Given the description of an element on the screen output the (x, y) to click on. 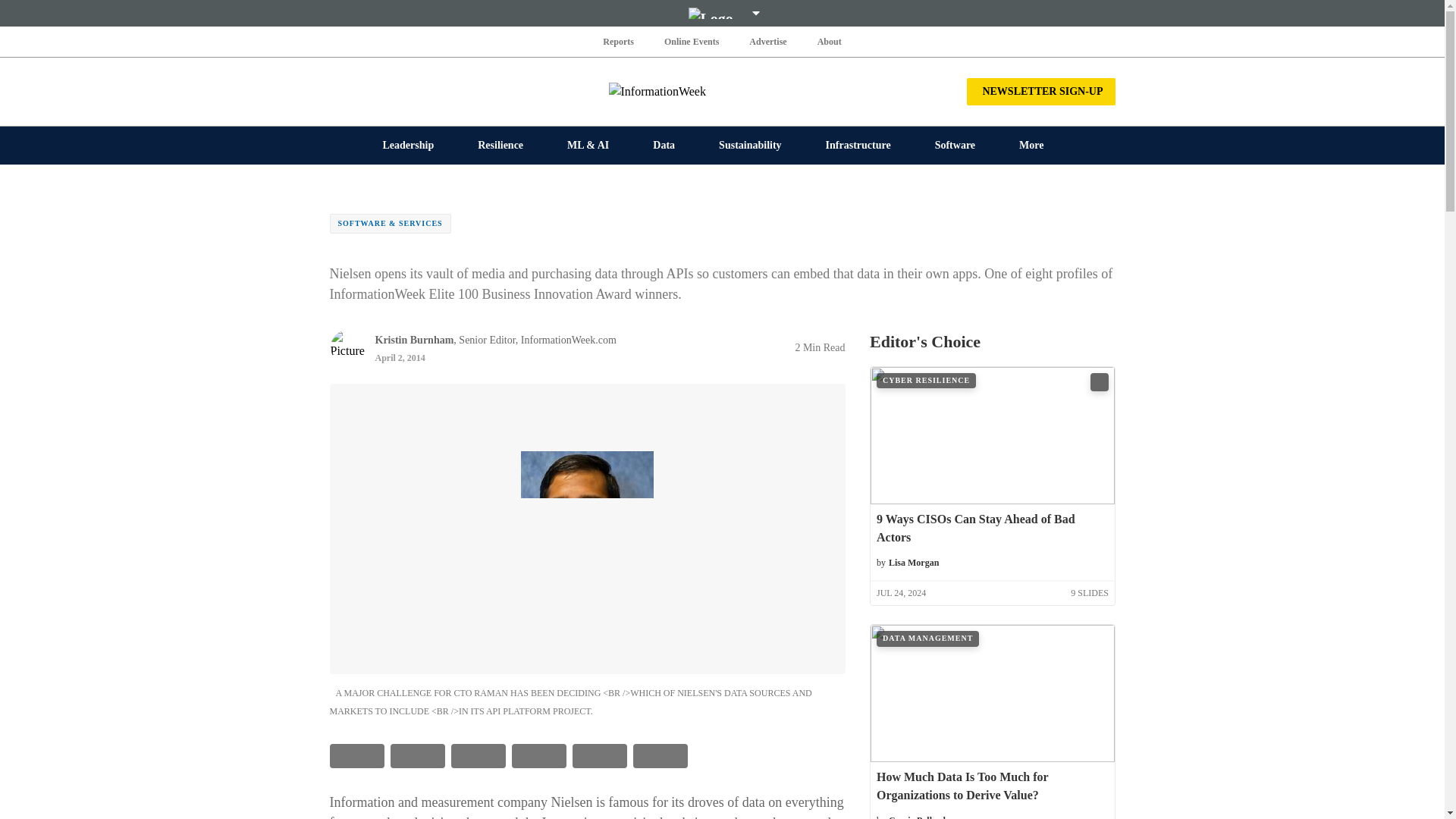
About (828, 41)
NEWSLETTER SIGN-UP (1040, 90)
Reports (618, 41)
Advertise (767, 41)
InformationWeek (721, 91)
Online Events (691, 41)
